Given the description of an element on the screen output the (x, y) to click on. 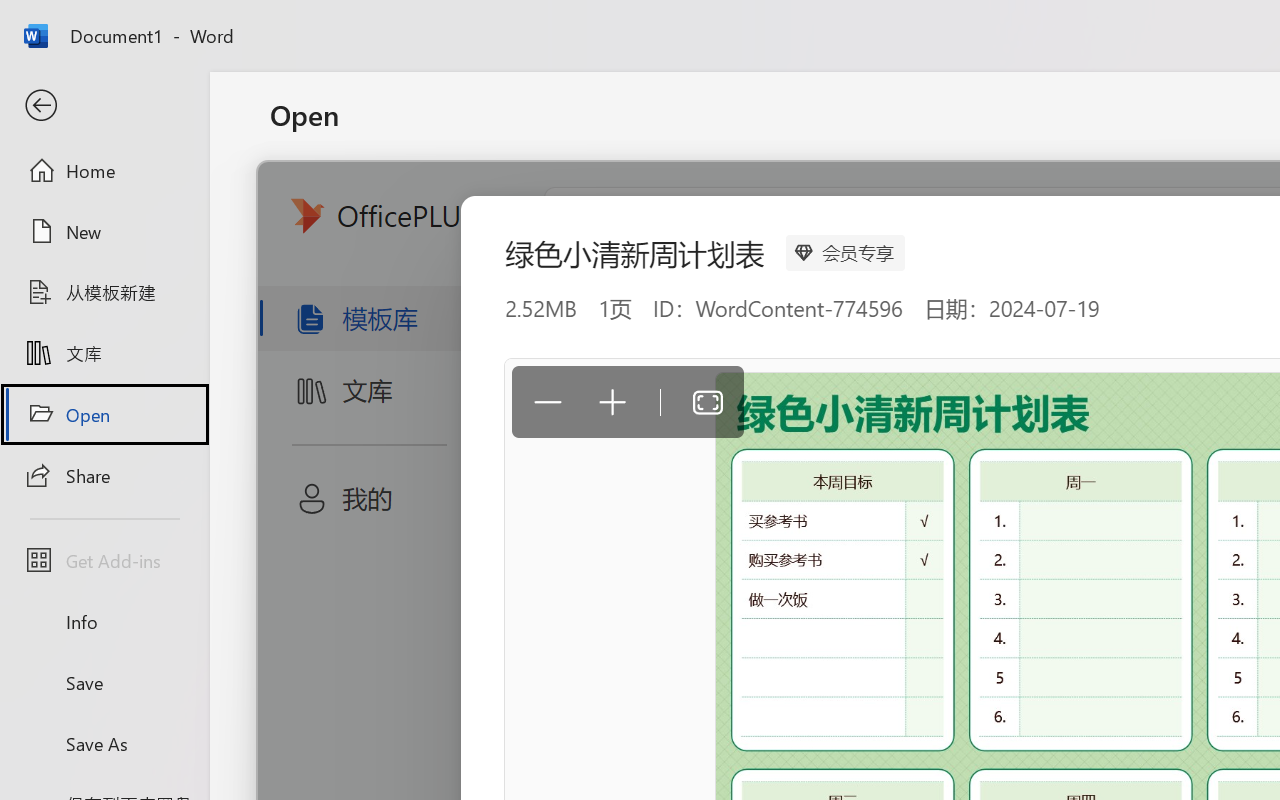
This PC (507, 461)
Back (104, 106)
New (104, 231)
Folders (984, 248)
Browse (507, 627)
Documents (866, 248)
Add a Place (507, 557)
Info (104, 621)
